Given the description of an element on the screen output the (x, y) to click on. 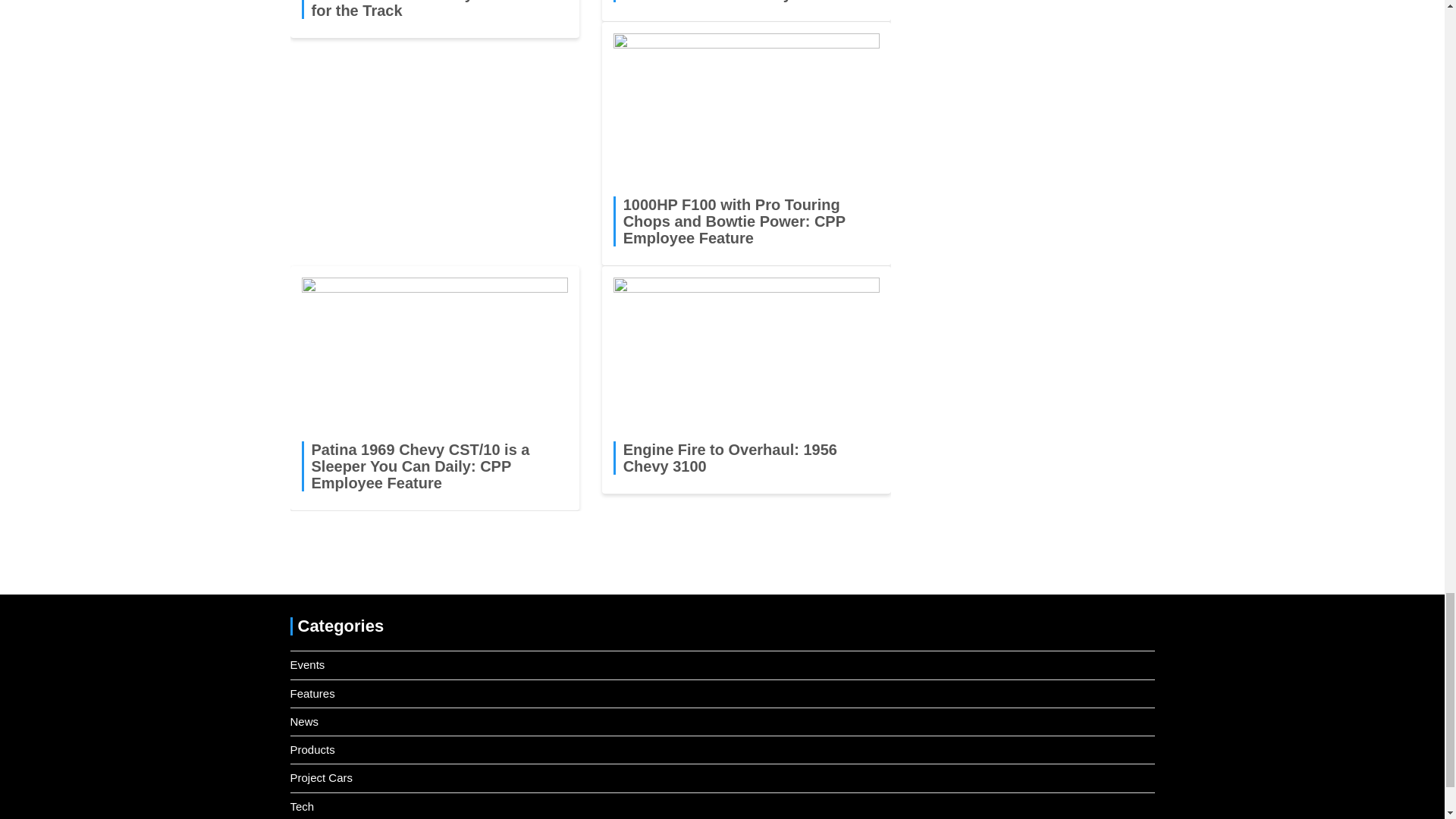
Homebuilt 1962 Chevy II Destined for the Track (432, 9)
Who is CPP? Our Story (707, 1)
